Given the description of an element on the screen output the (x, y) to click on. 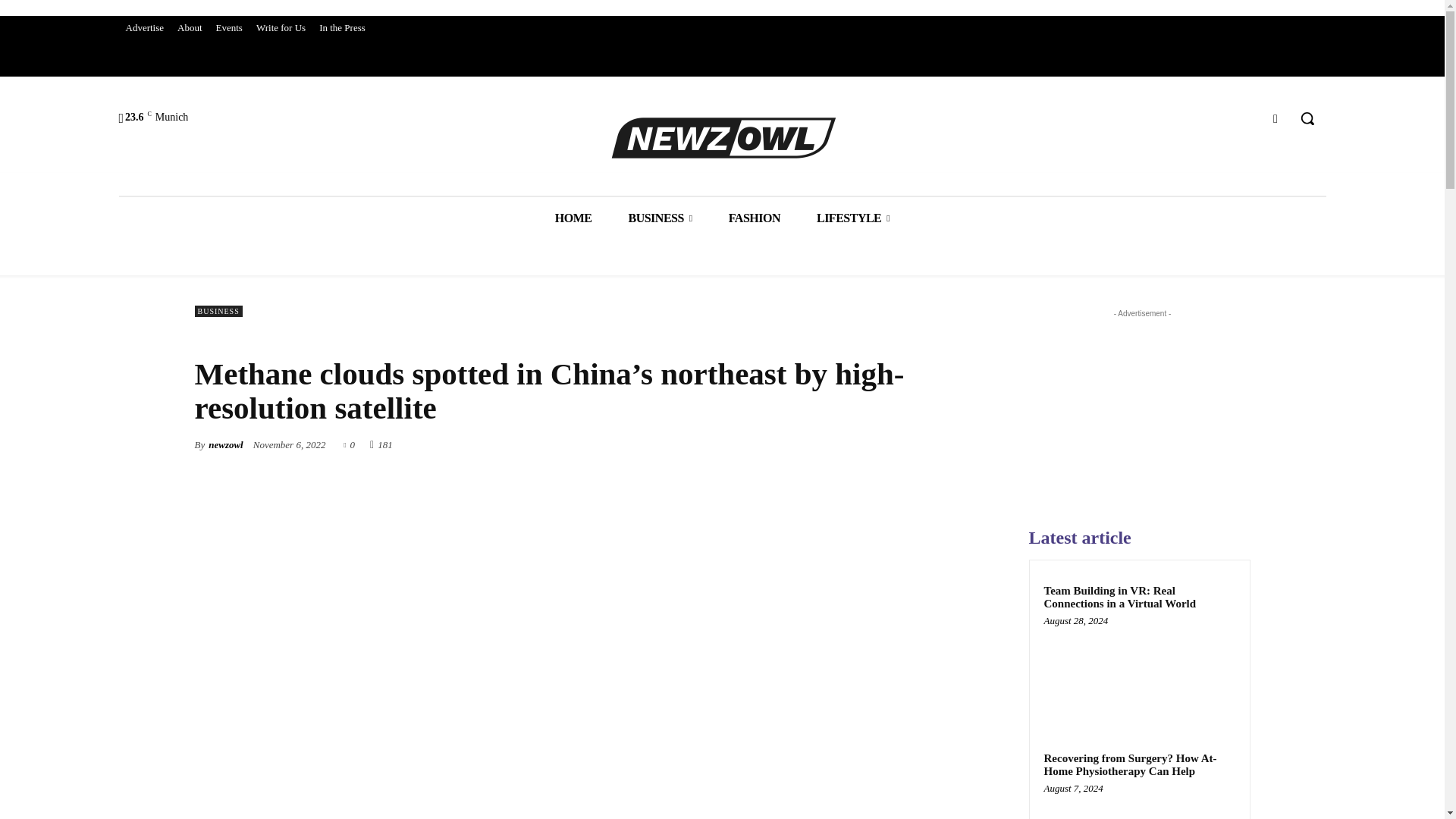
BUSINESS (660, 218)
HOME (573, 218)
newzowl (225, 444)
In the Press (342, 27)
Write for Us (280, 27)
Advertise (143, 27)
0 (349, 443)
Facebook (1275, 118)
FASHION (753, 218)
About (189, 27)
